Given the description of an element on the screen output the (x, y) to click on. 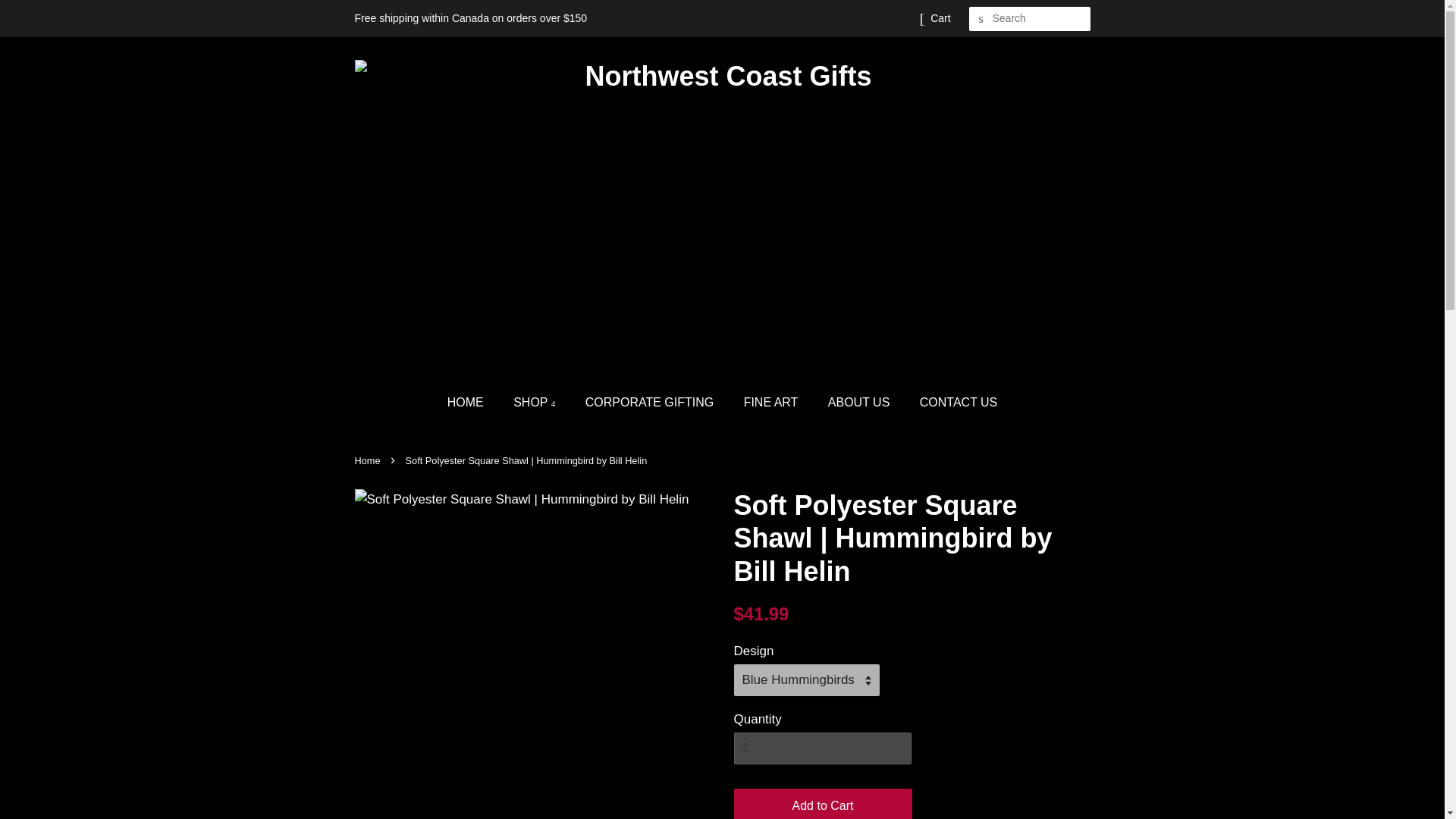
Back to the frontpage (369, 460)
1 (822, 748)
Cart (940, 18)
Search (980, 18)
